Given the description of an element on the screen output the (x, y) to click on. 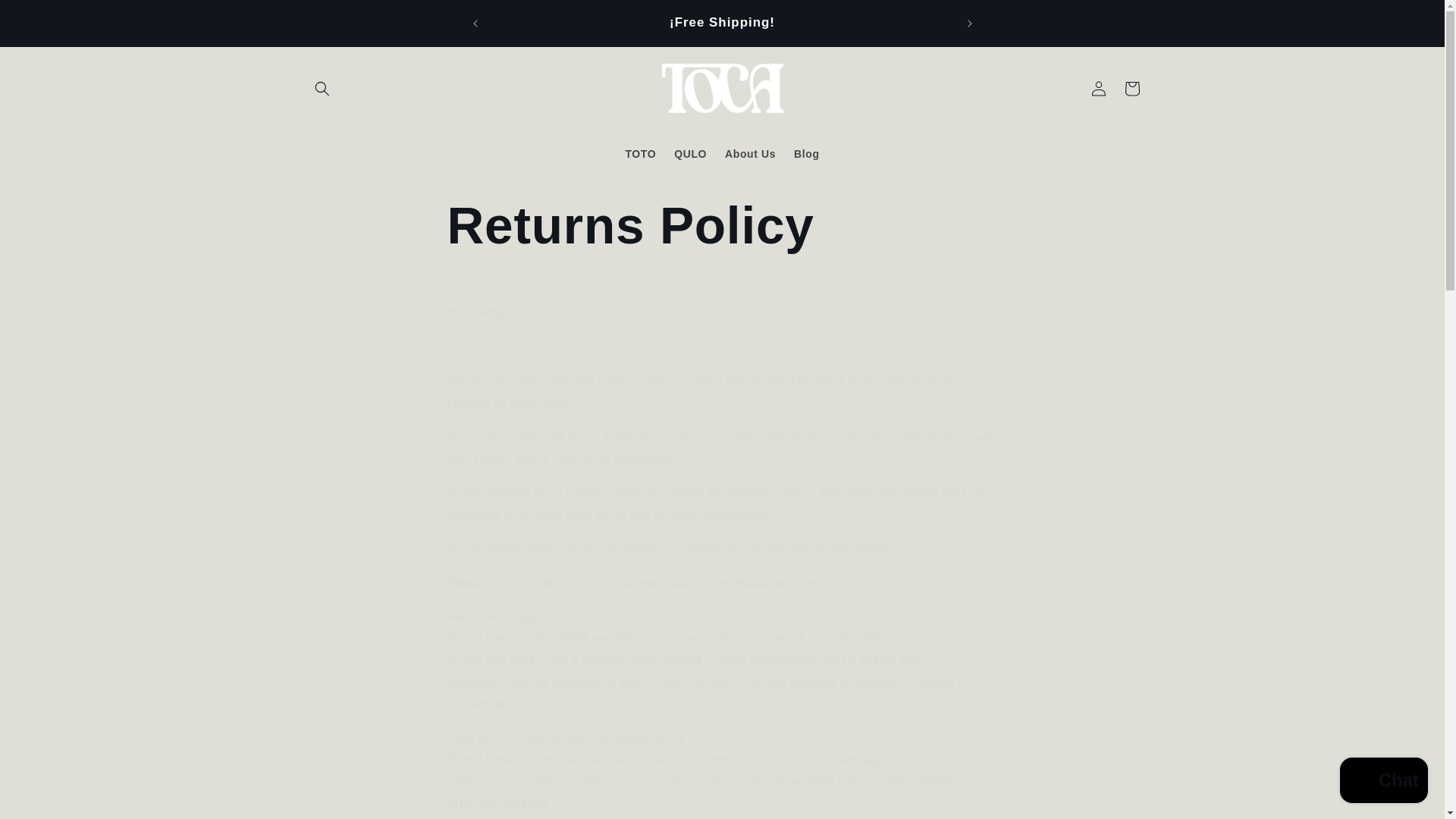
QULO (690, 153)
Returns Policy (721, 225)
Blog (806, 153)
TOTO (640, 153)
Log in (1098, 88)
Shopify online store chat (1383, 781)
Skip to content (45, 17)
Cart (1131, 88)
About Us (750, 153)
